Given the description of an element on the screen output the (x, y) to click on. 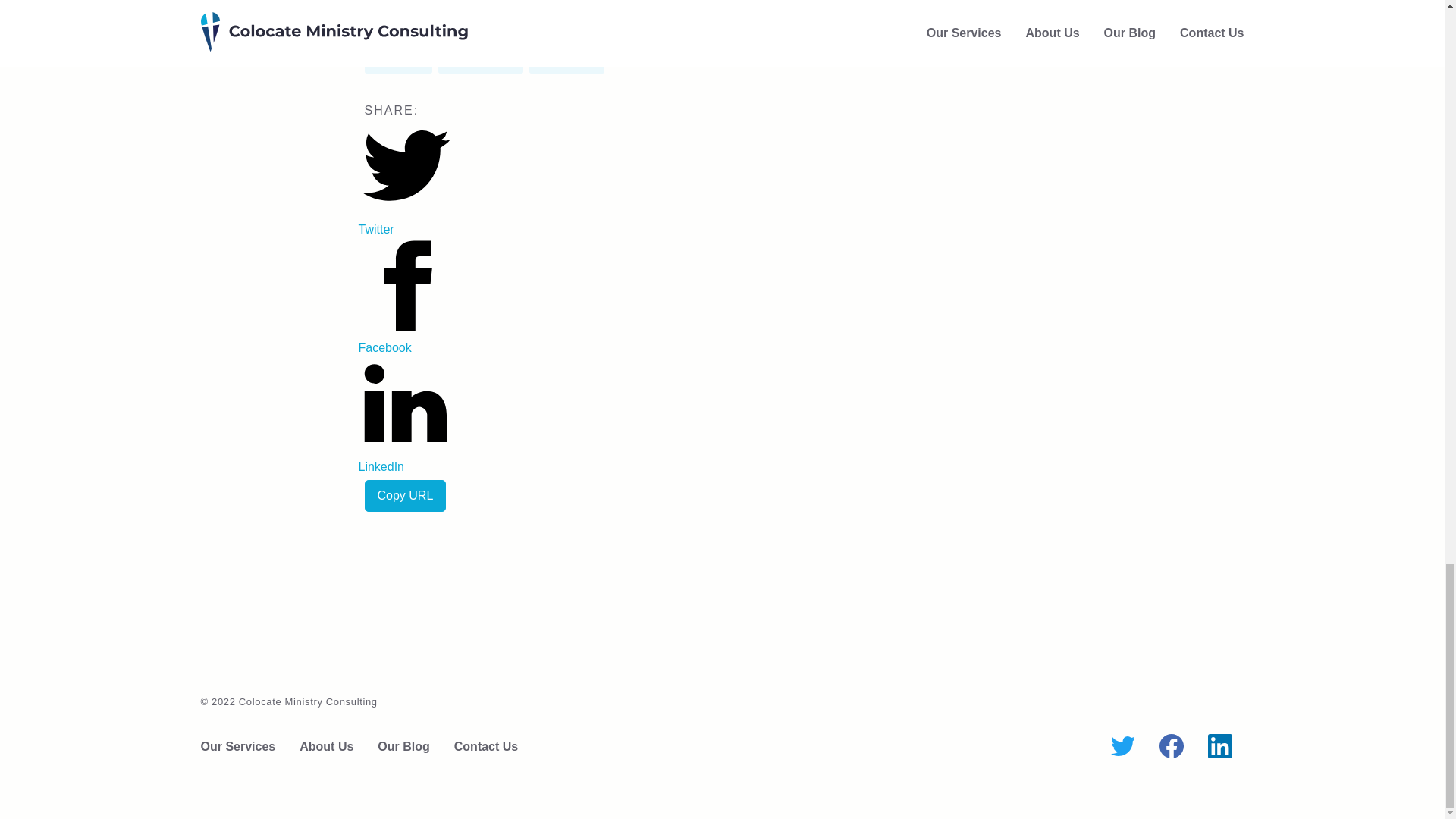
Contact Us (486, 746)
Copy URL (404, 495)
Training (397, 60)
twitter (1121, 745)
facebook (1170, 745)
linkedin (1219, 745)
About Us (326, 746)
Contact Us (486, 746)
Coaching (567, 60)
Our Blog (403, 746)
